Given the description of an element on the screen output the (x, y) to click on. 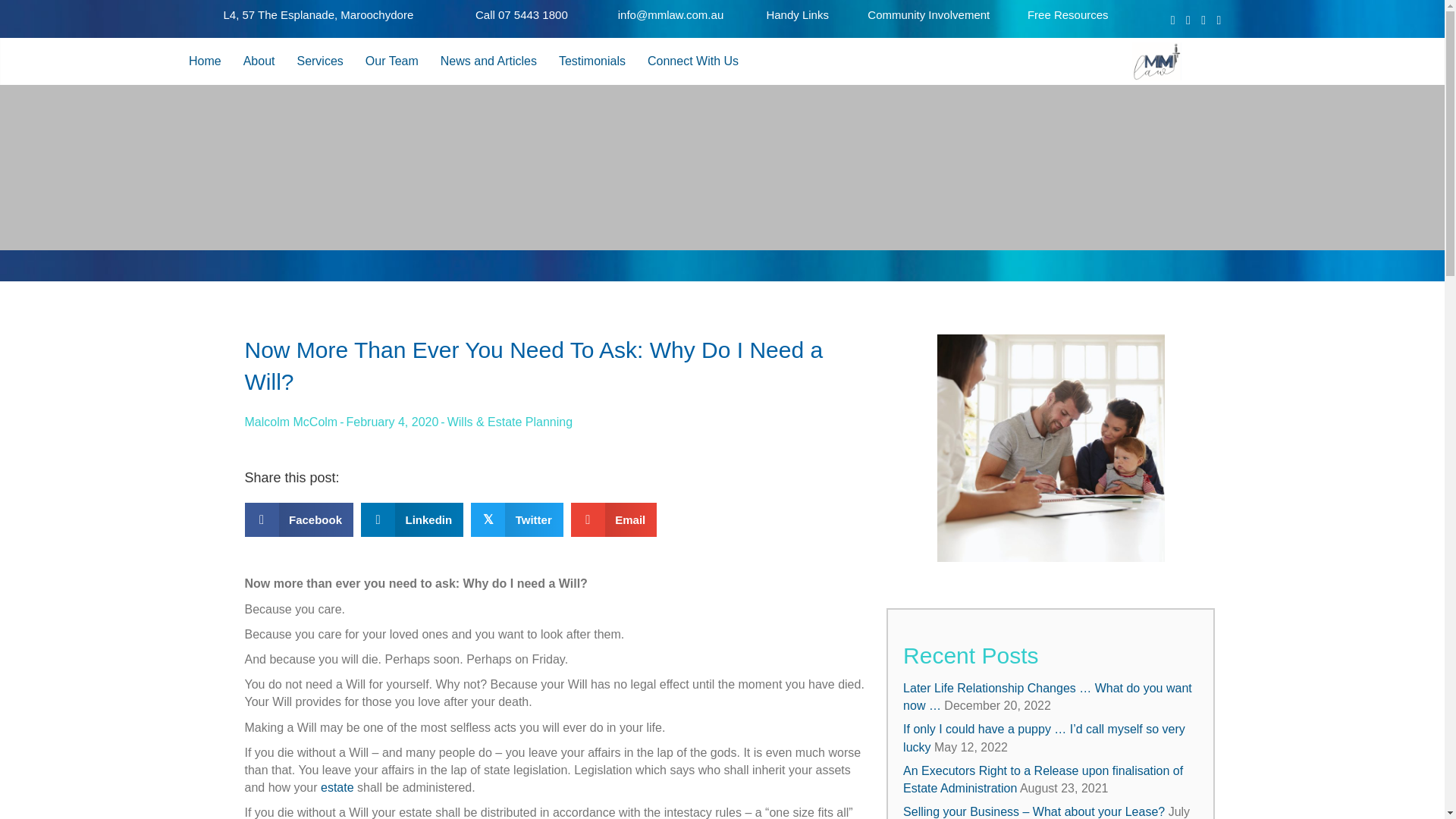
Our Team (392, 61)
Home (204, 61)
Call (486, 14)
07 5443 1800 (532, 14)
image003 (1156, 61)
Services (319, 61)
Community Involvement (928, 14)
Free Resources (1067, 14)
Handy Links (796, 14)
MML-BlogFeb20WhydoIneedaWill-640x640 (1050, 447)
About (258, 61)
